Given the description of an element on the screen output the (x, y) to click on. 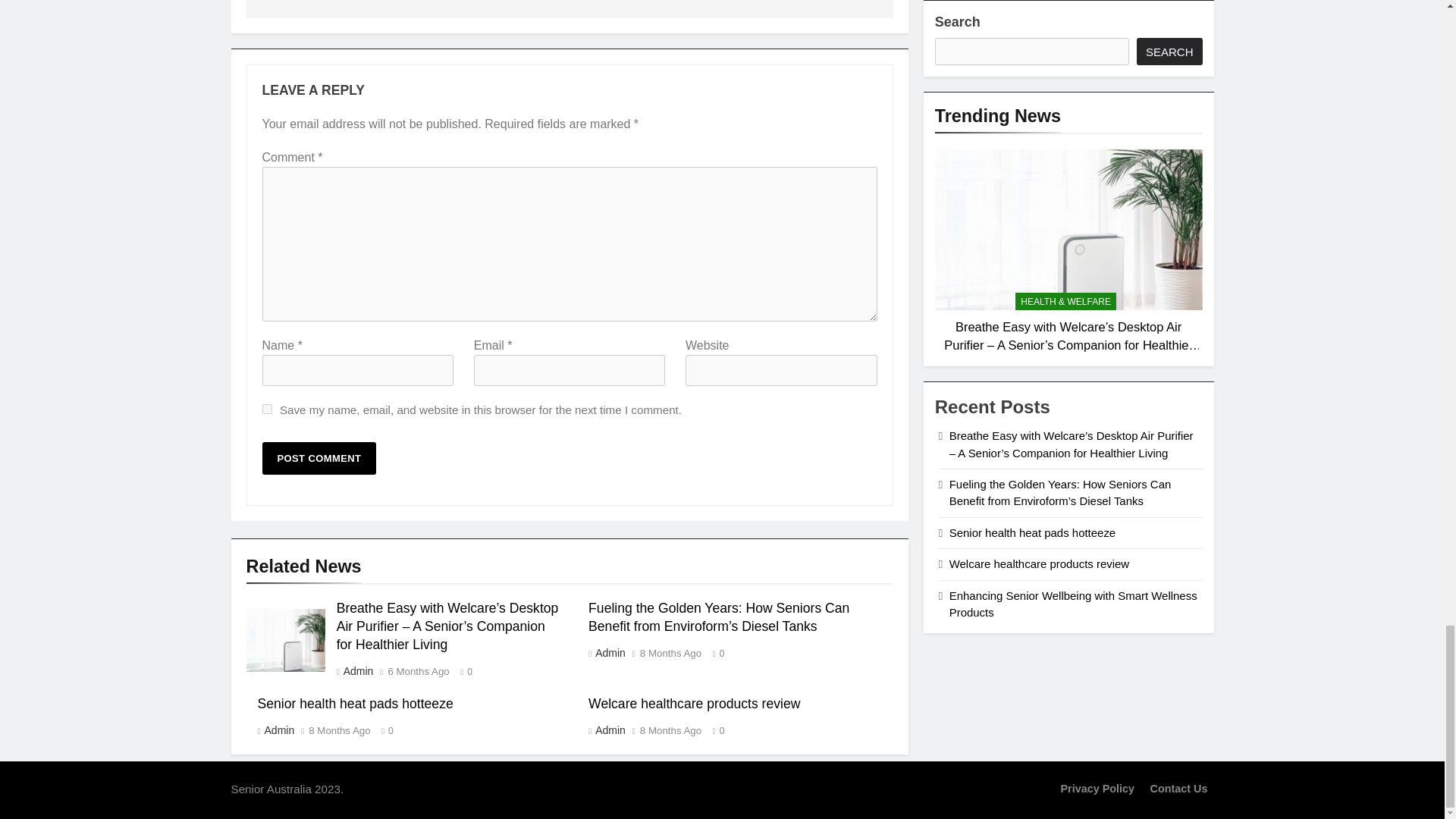
Post Comment (319, 458)
yes (267, 409)
Admin (357, 671)
Post Comment (319, 458)
